Given the description of an element on the screen output the (x, y) to click on. 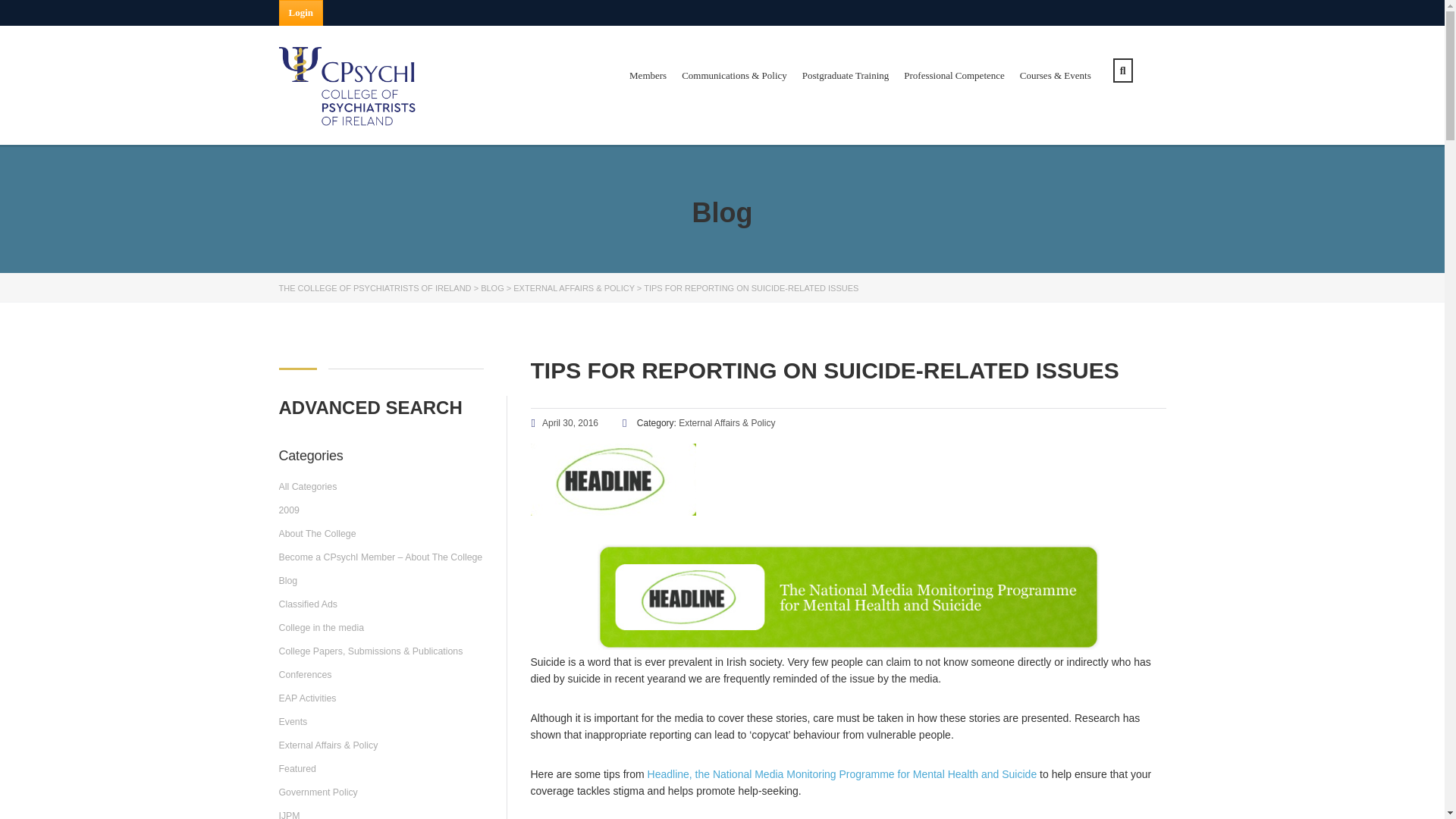
Login (301, 12)
Login (301, 12)
Go to The College of Psychiatrists of Ireland. (375, 287)
Go to Blog. (491, 287)
